Given the description of an element on the screen output the (x, y) to click on. 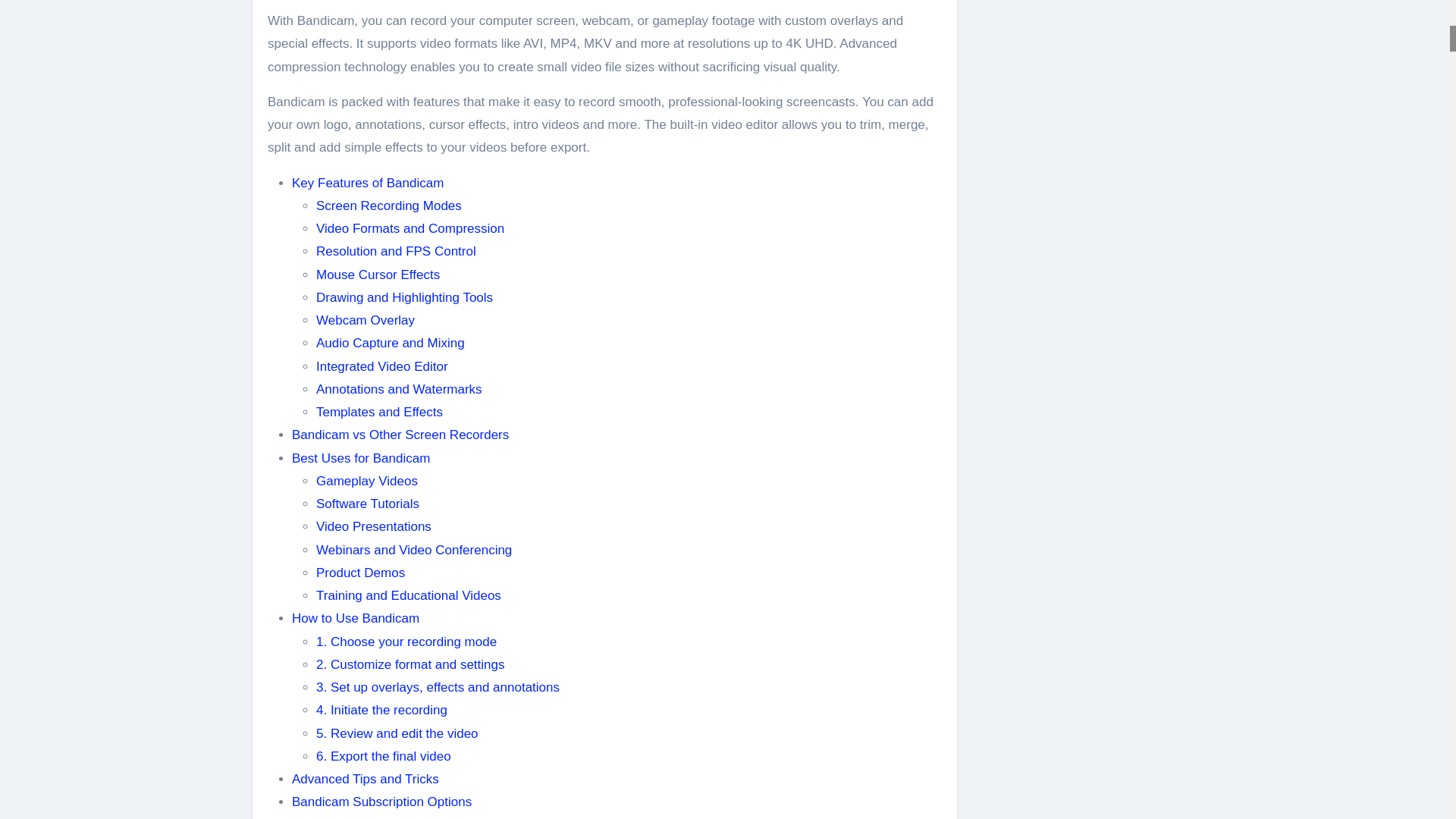
Webinars and Video Conferencing (413, 549)
Best Uses for Bandicam (360, 457)
Drawing and Highlighting Tools (404, 297)
Product Demos (359, 572)
Bandicam vs Other Screen Recorders (400, 434)
How to Use Bandicam (355, 617)
Webcam Overlay (364, 319)
Key Features of Bandicam (368, 183)
Video Formats and Compression (409, 228)
Video Presentations (372, 526)
